Given the description of an element on the screen output the (x, y) to click on. 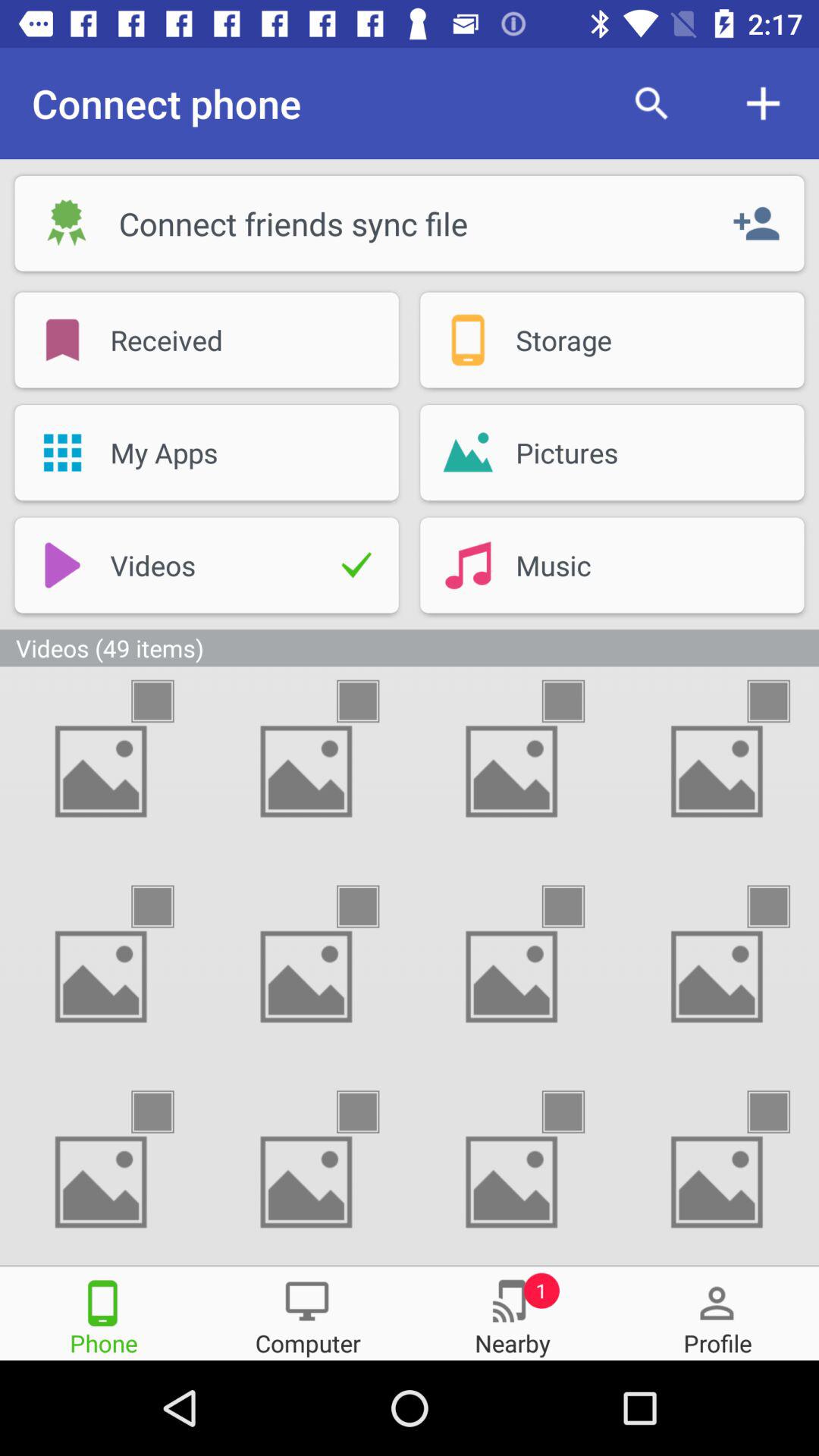
click on the video thumbnail (166, 906)
